Given the description of an element on the screen output the (x, y) to click on. 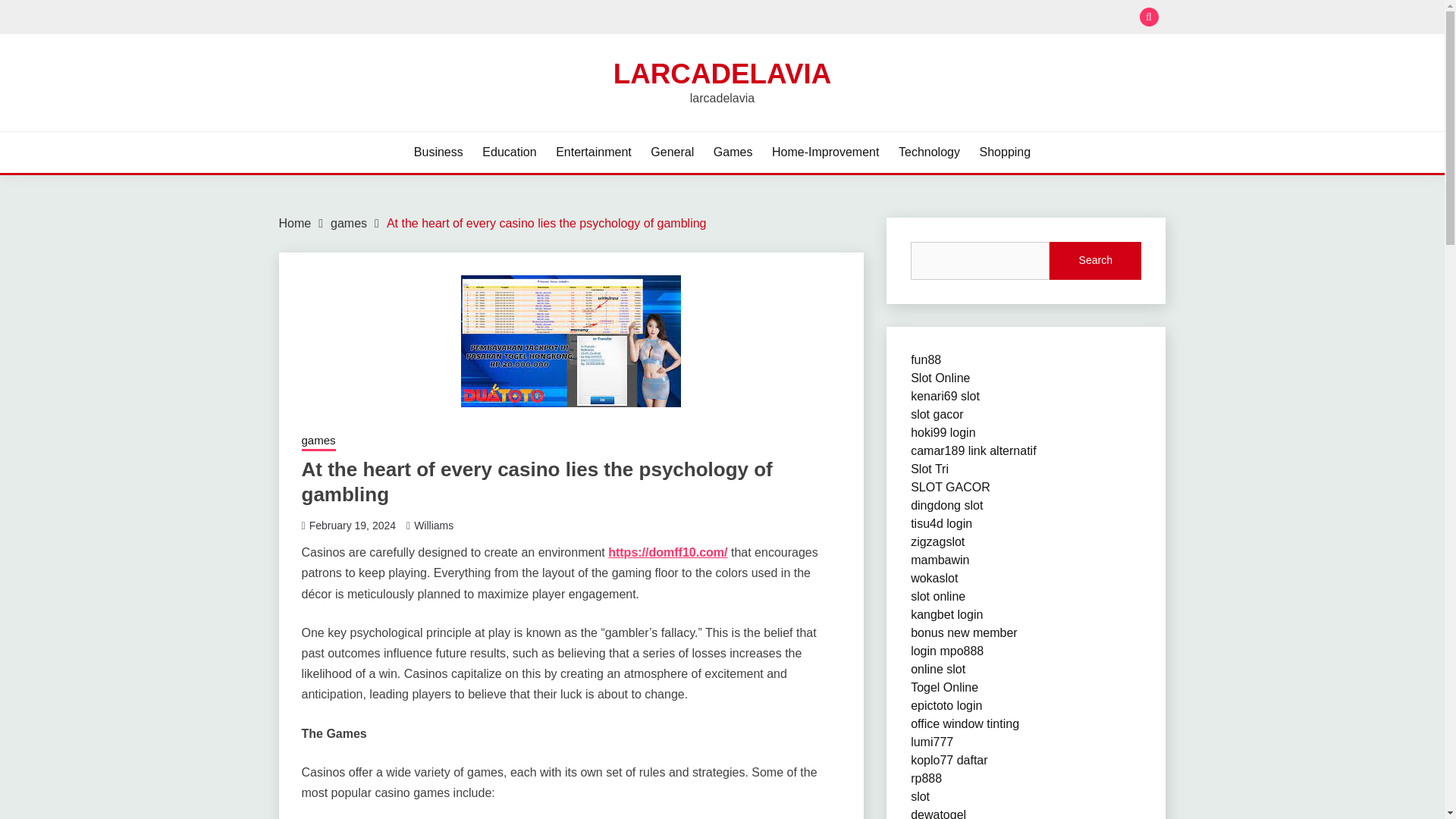
kenari69 slot (945, 395)
Education (508, 152)
Slot Online (940, 377)
fun88 (925, 359)
At the heart of every casino lies the psychology of gambling (546, 223)
Home (295, 223)
LARCADELAVIA (721, 73)
Search (832, 18)
slot gacor (936, 413)
Home-Improvement (825, 152)
